Given the description of an element on the screen output the (x, y) to click on. 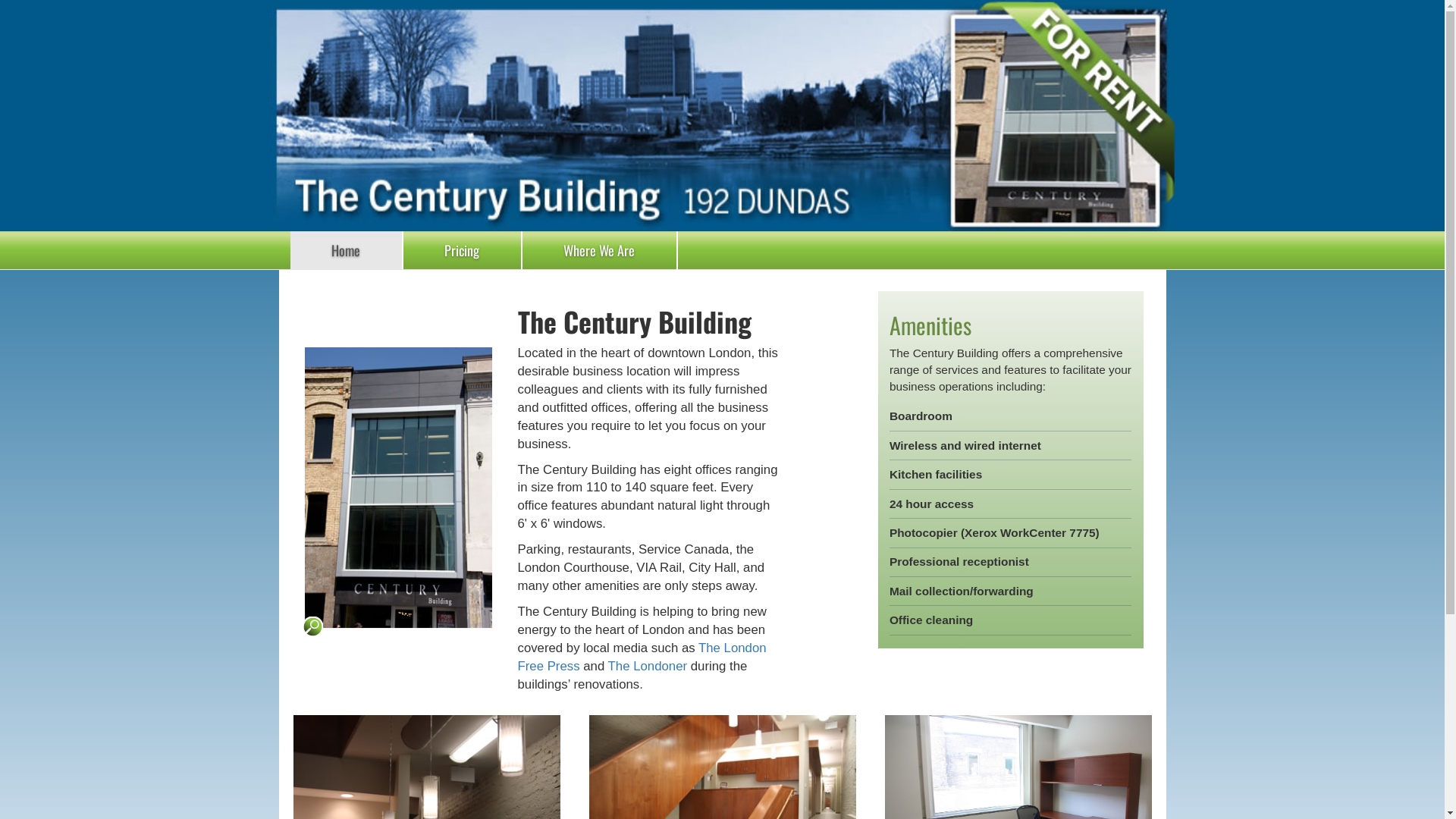
Pricing Element type: text (462, 250)
Where We Are Element type: text (599, 250)
The Londoner Element type: text (647, 665)
Home Element type: text (345, 250)
The London Free Press Element type: text (641, 656)
